Given the description of an element on the screen output the (x, y) to click on. 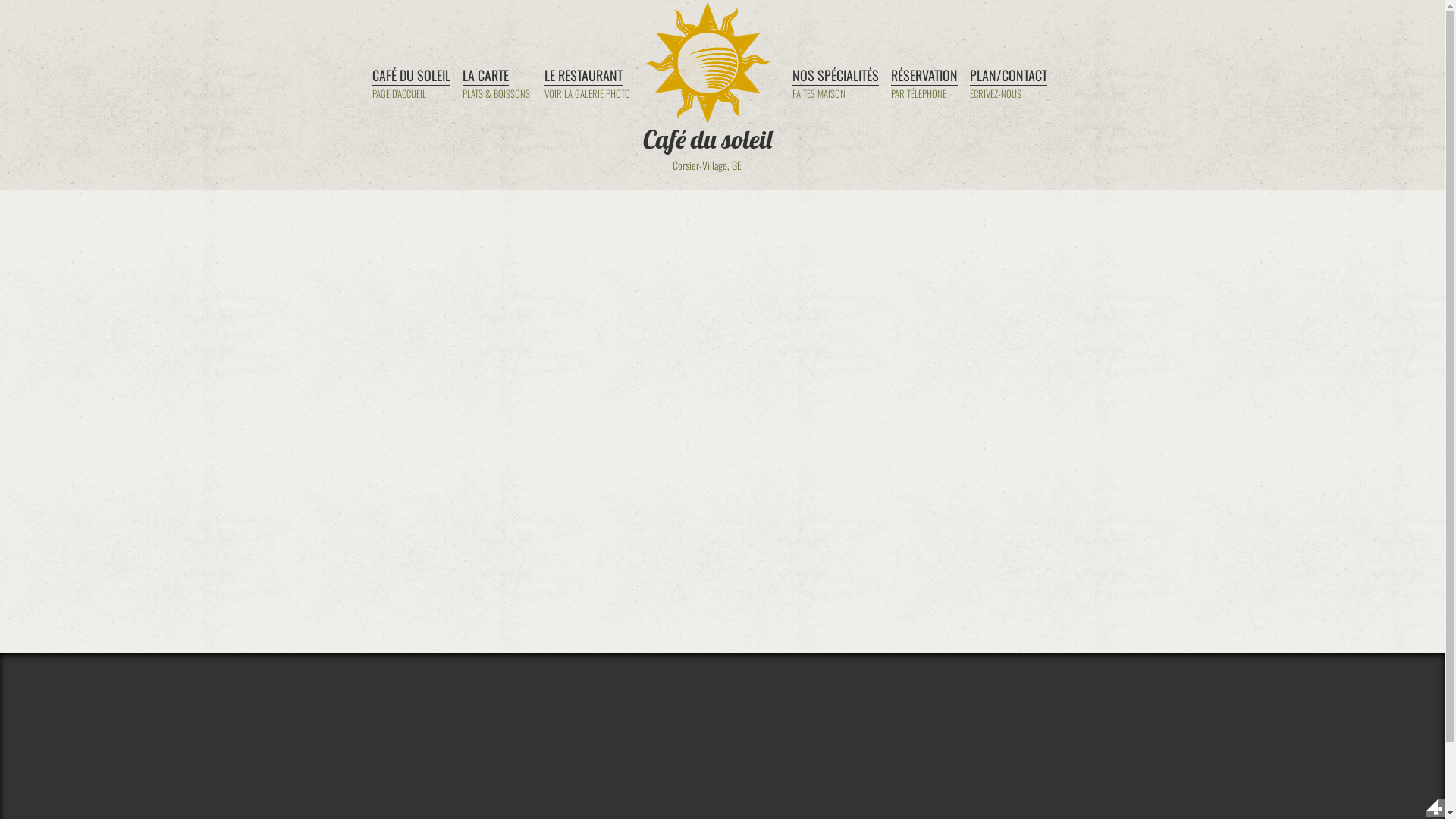
LA CARTE
PLATS & BOISSONS  Element type: text (497, 86)
PLAN/CONTACT
ECRIVEZ-NOUS  Element type: text (1007, 86)
LE RESTAURANT
VOIR LA GALERIE PHOTO  Element type: text (588, 86)
